Given the description of an element on the screen output the (x, y) to click on. 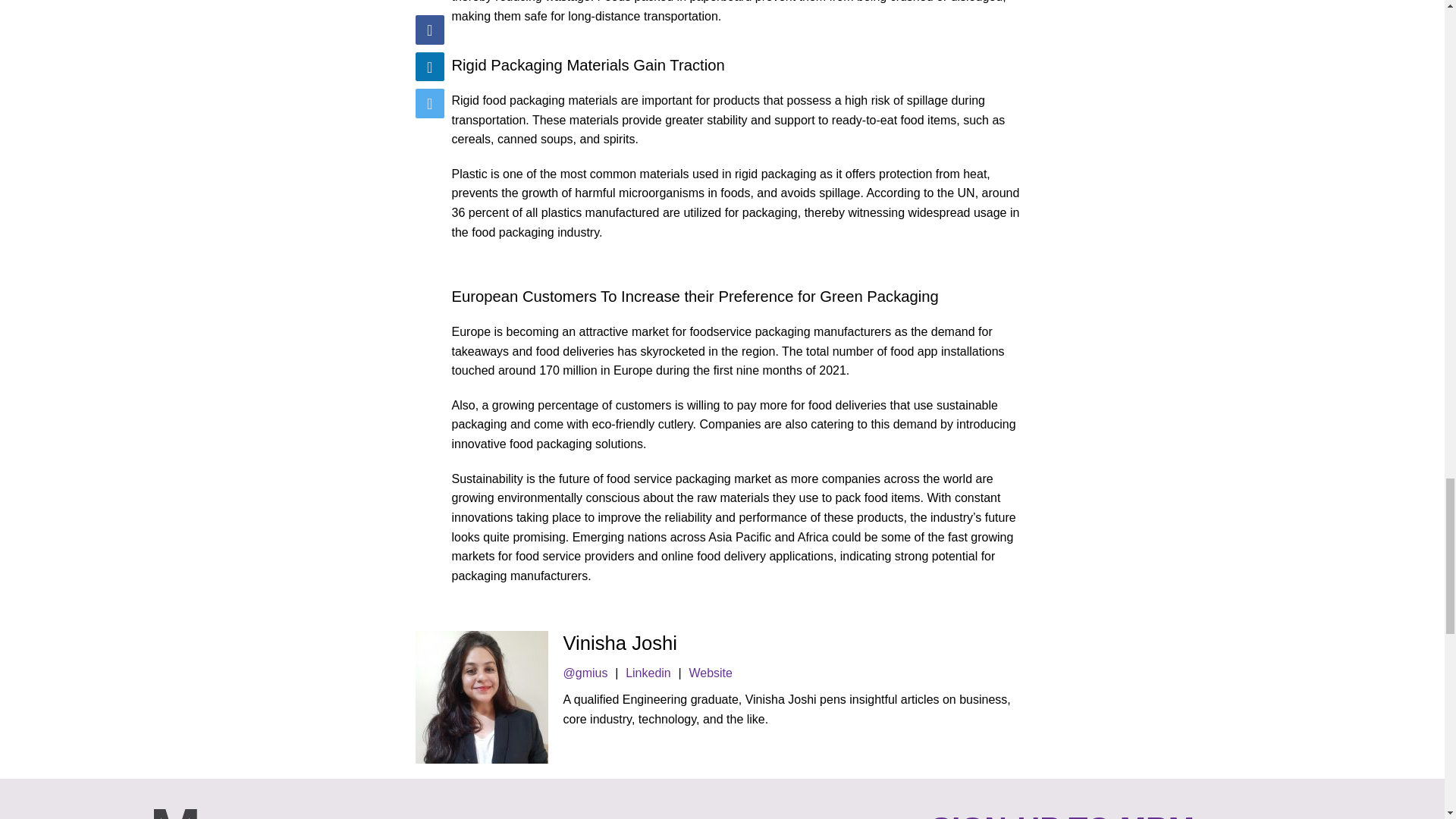
Follow on Linkedin (650, 672)
Website (710, 672)
Linkedin (650, 672)
Follow on Twitter (586, 672)
Follow on Website (710, 672)
